Given the description of an element on the screen output the (x, y) to click on. 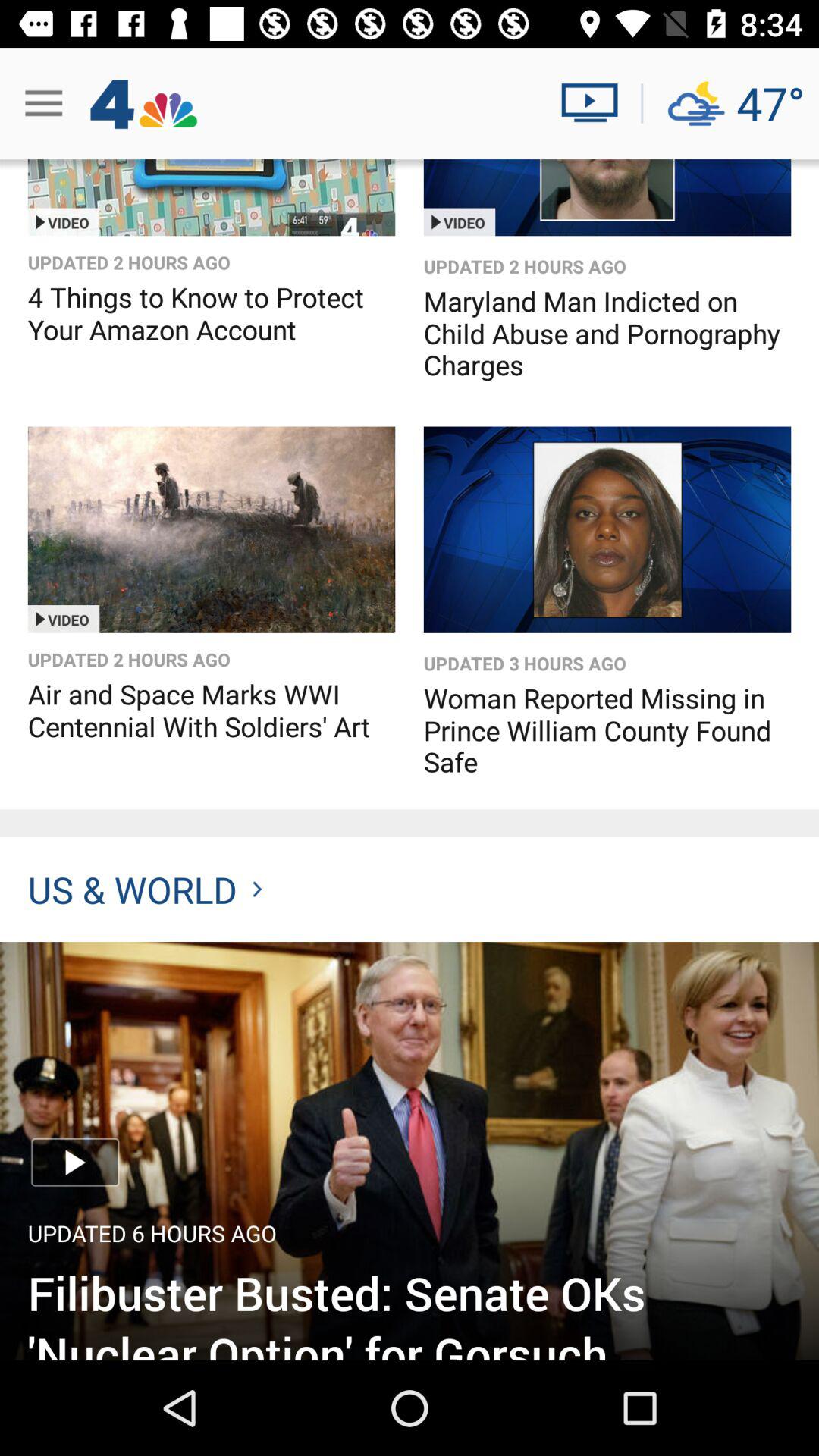
image link (409, 1150)
